Given the description of an element on the screen output the (x, y) to click on. 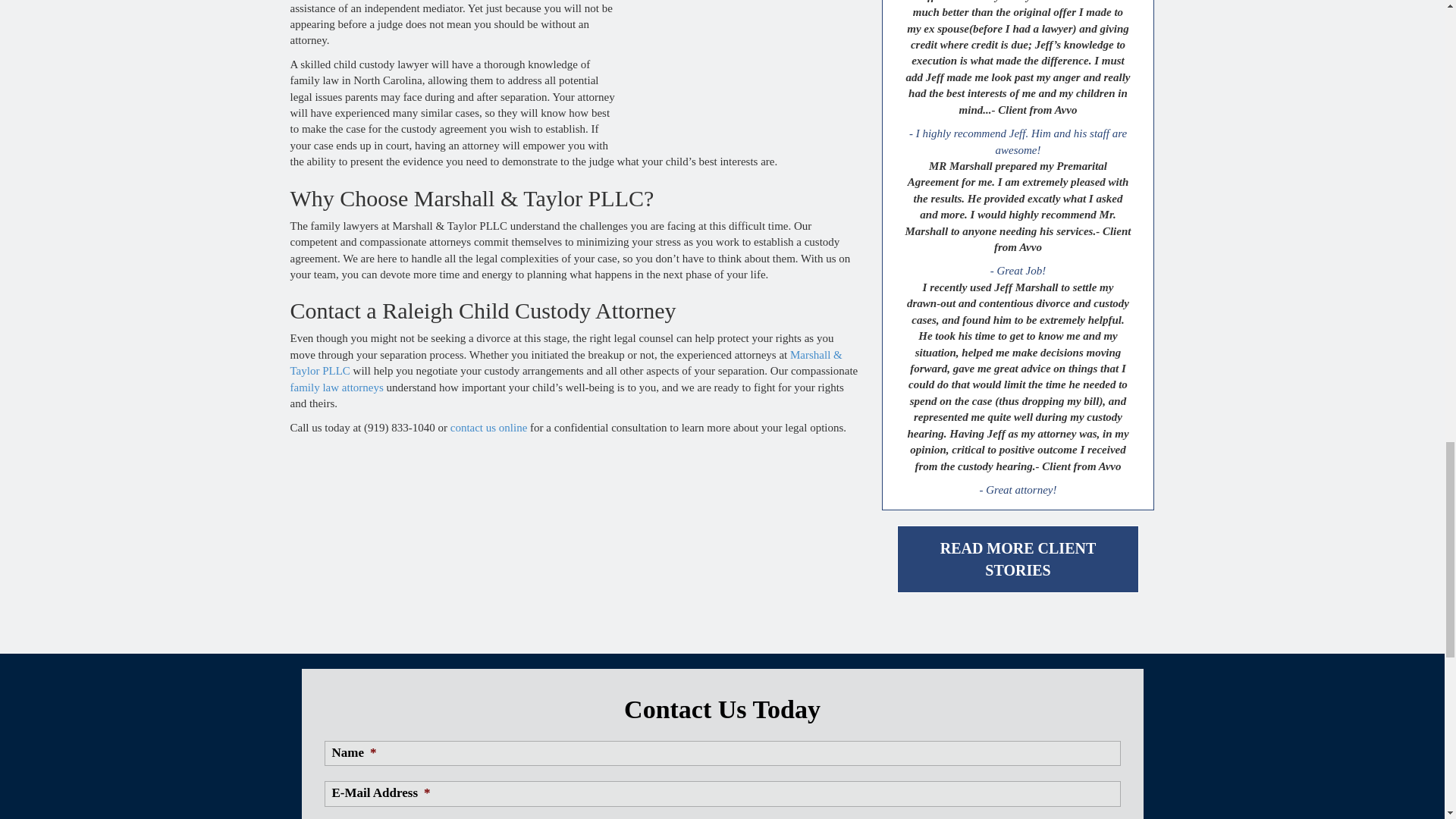
contact us online (488, 427)
family law attorneys (335, 387)
READ MORE CLIENT STORIES (1017, 558)
